Given the description of an element on the screen output the (x, y) to click on. 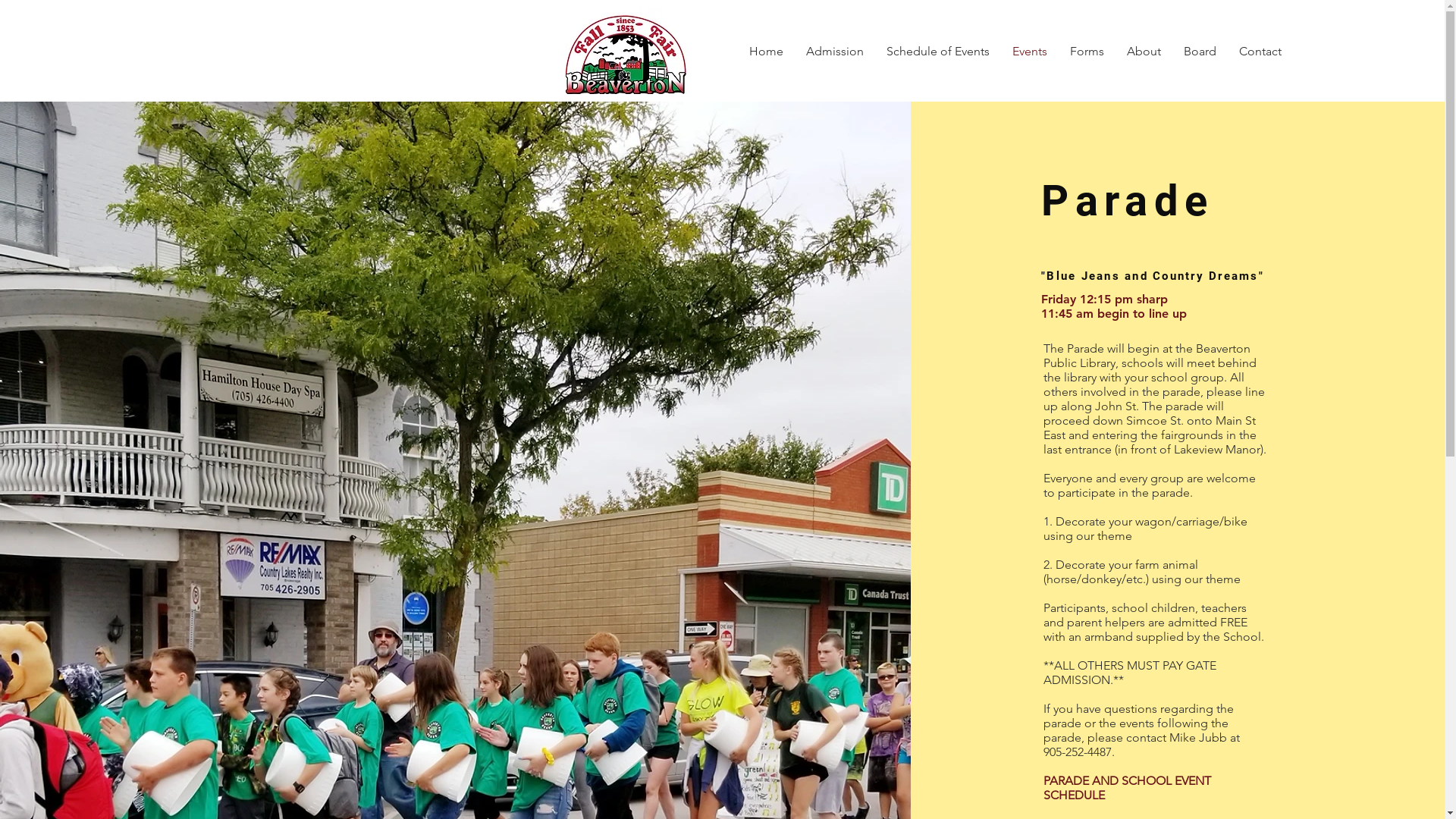
Events Element type: text (1029, 51)
Board Element type: text (1199, 51)
About Element type: text (1143, 51)
Admission Element type: text (834, 51)
Contact Element type: text (1259, 51)
Schedule of Events Element type: text (938, 51)
Home Element type: text (765, 51)
Forms Element type: text (1086, 51)
